Given the description of an element on the screen output the (x, y) to click on. 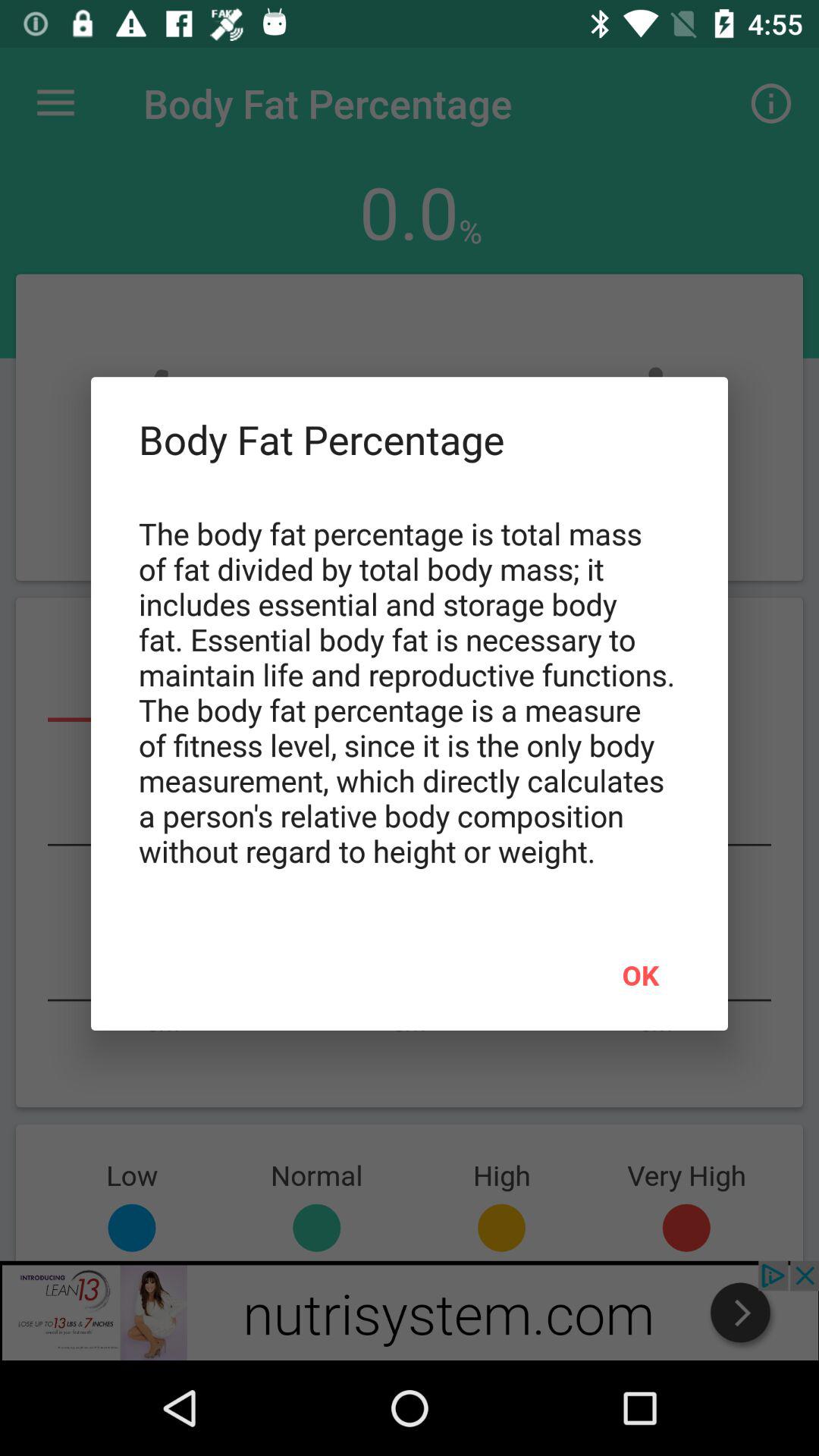
tap the item below the body fat icon (640, 974)
